Given the description of an element on the screen output the (x, y) to click on. 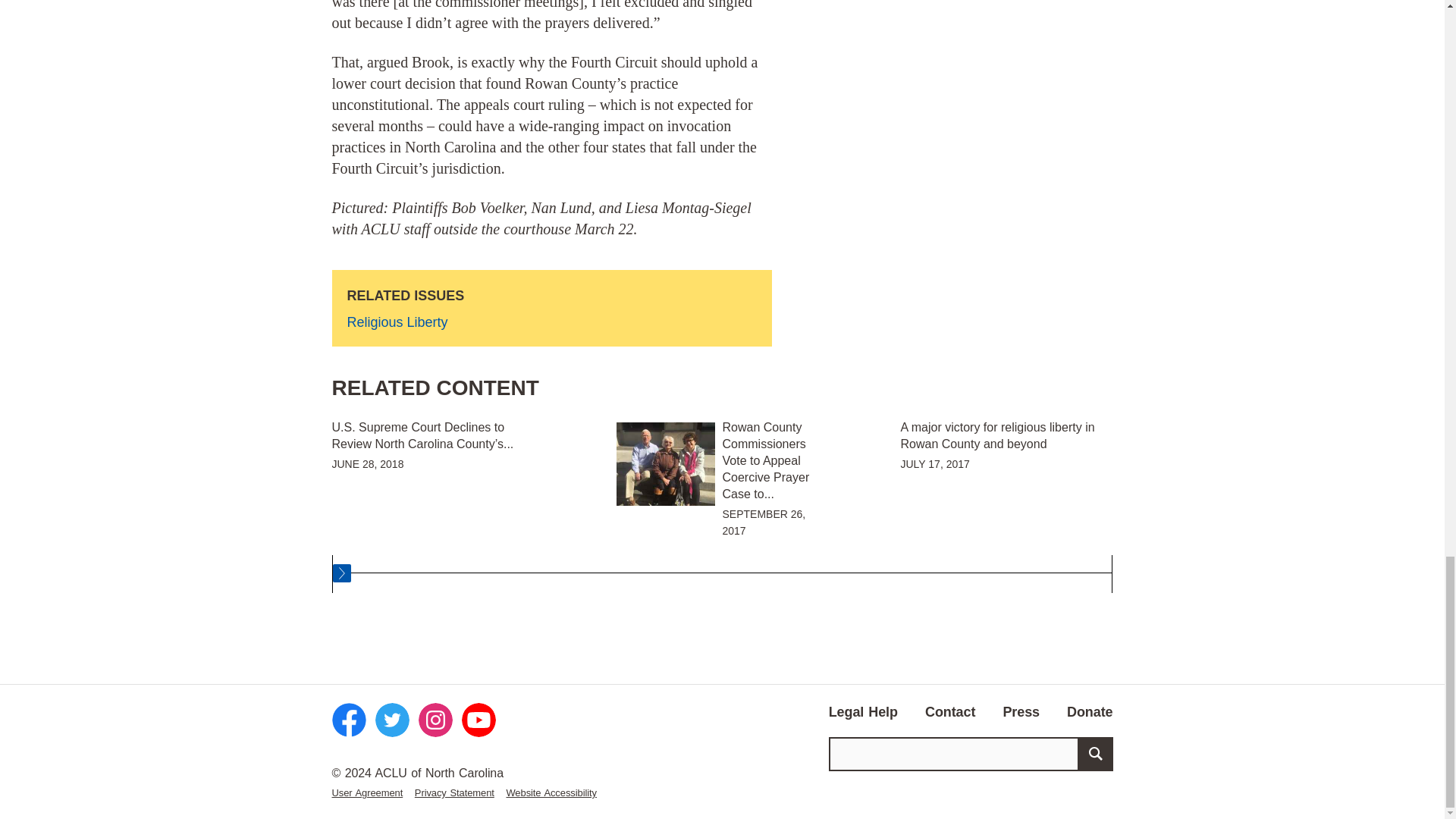
Search (1095, 754)
